Given the description of an element on the screen output the (x, y) to click on. 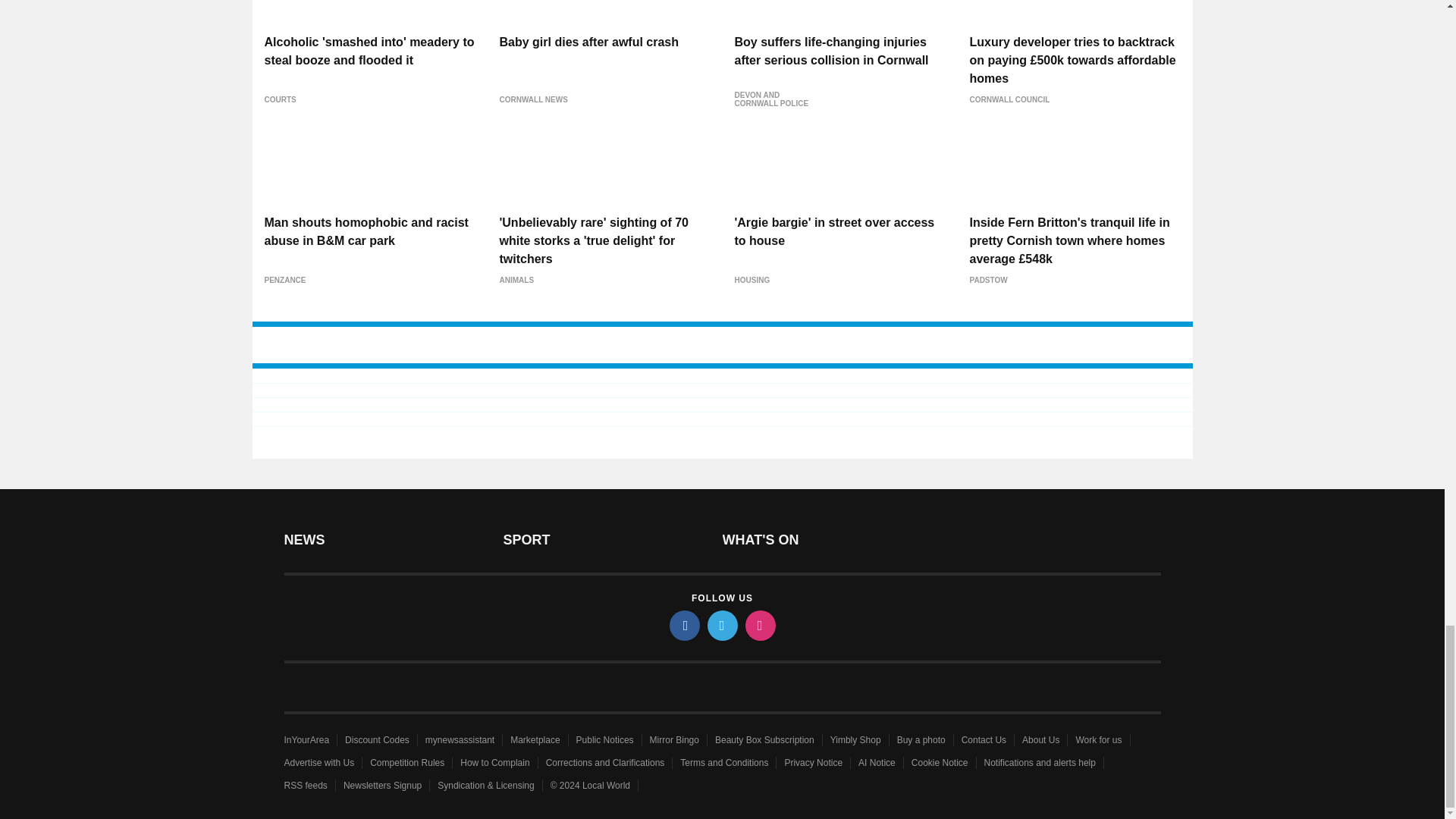
instagram (759, 625)
twitter (721, 625)
facebook (683, 625)
